Given the description of an element on the screen output the (x, y) to click on. 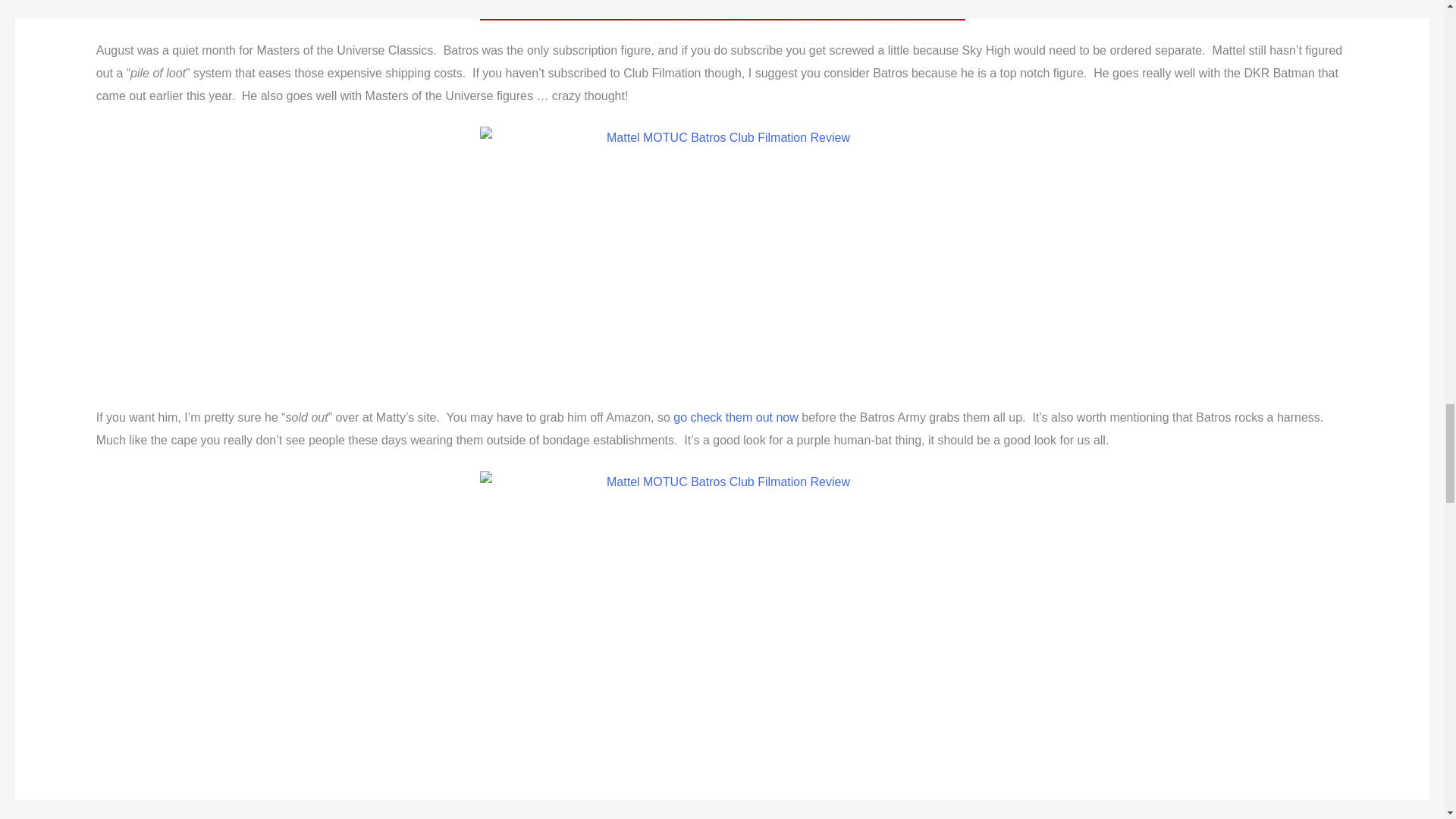
Mattel MOTUC Batros Club Filmation Review (721, 10)
Mattel MOTUC Batros Club Filmation Review (721, 256)
go check them out now (734, 417)
